Given the description of an element on the screen output the (x, y) to click on. 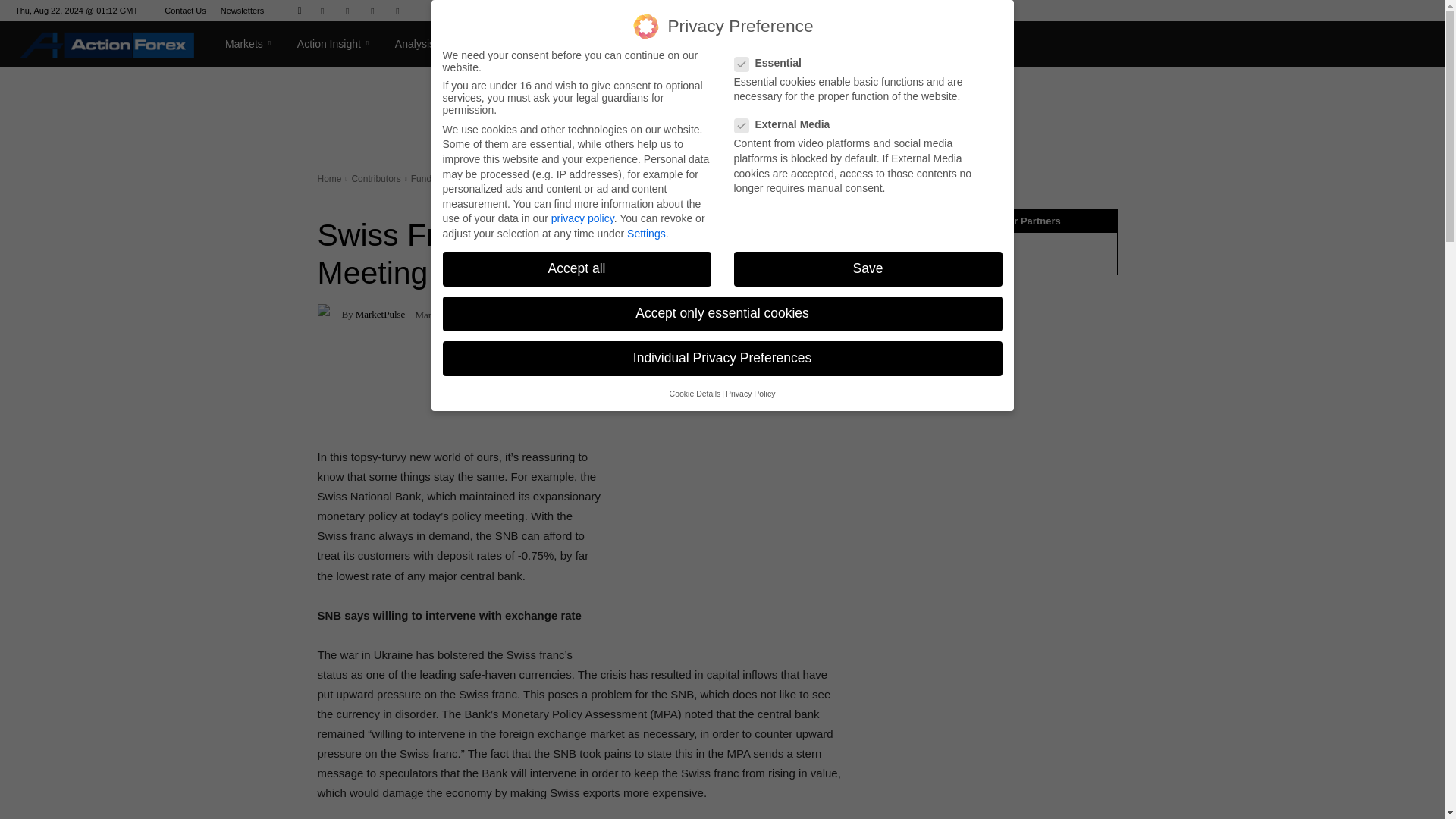
Action Forex (106, 44)
RSS (372, 10)
Mail (347, 10)
Facebook (322, 10)
Twitter (397, 10)
